Given the description of an element on the screen output the (x, y) to click on. 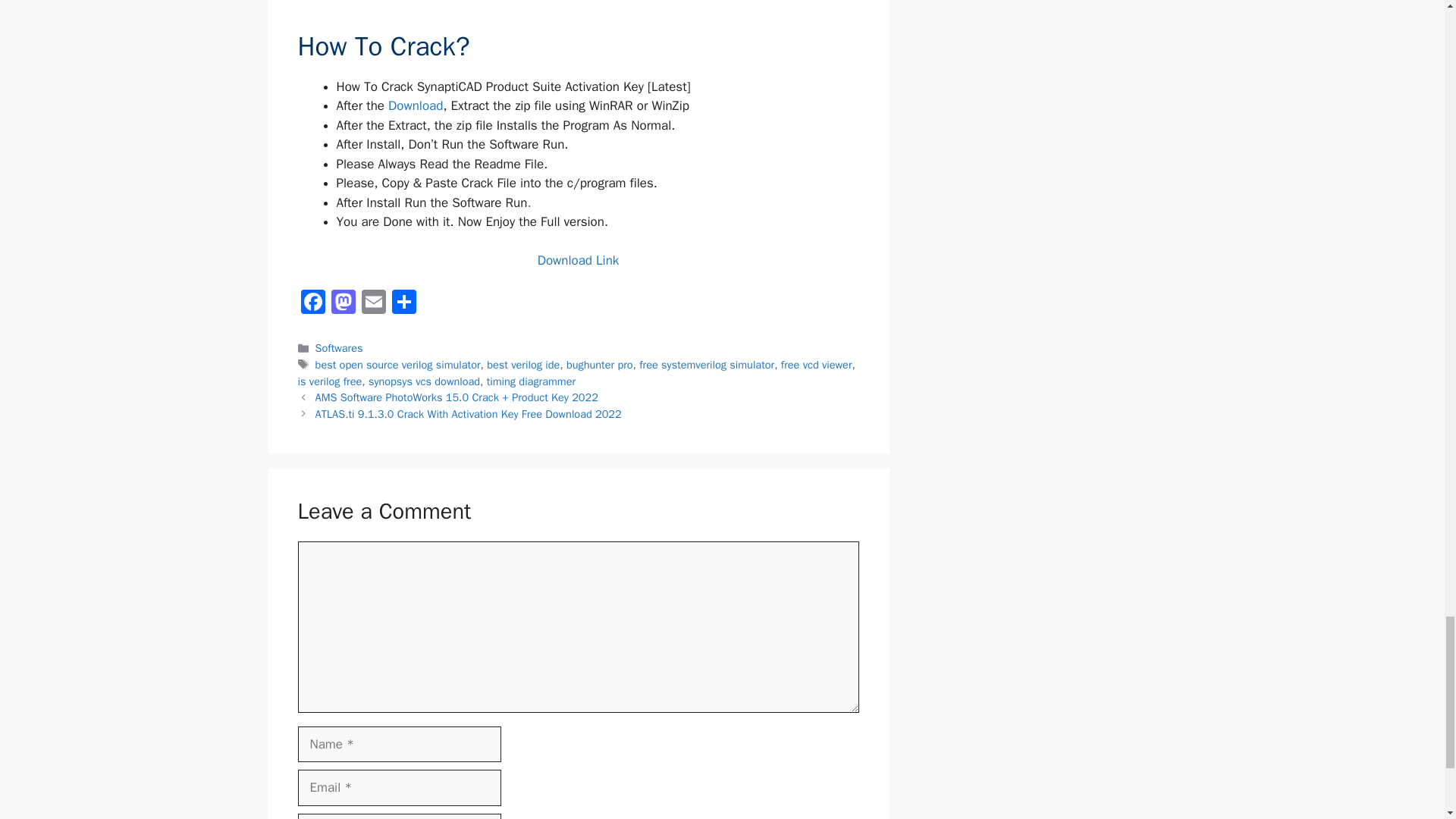
Email (373, 303)
best verilog ide (522, 364)
synopsys vcs download (424, 381)
Download Link (578, 260)
best open source verilog simulator (397, 364)
Mastodon (342, 303)
Mastodon (342, 303)
timing diagrammer (530, 381)
Download (415, 105)
